Given the description of an element on the screen output the (x, y) to click on. 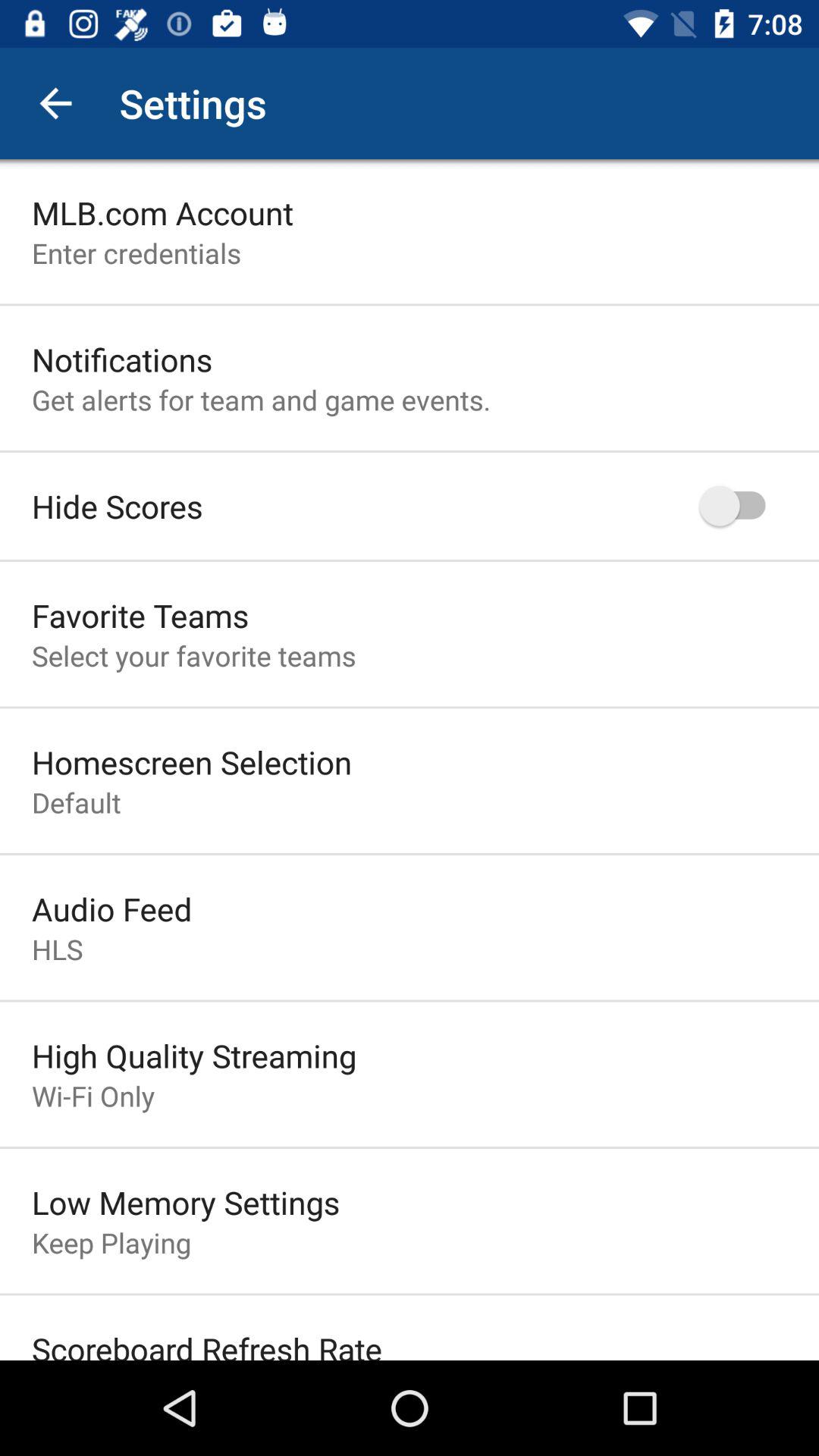
press the item above notifications (136, 252)
